Given the description of an element on the screen output the (x, y) to click on. 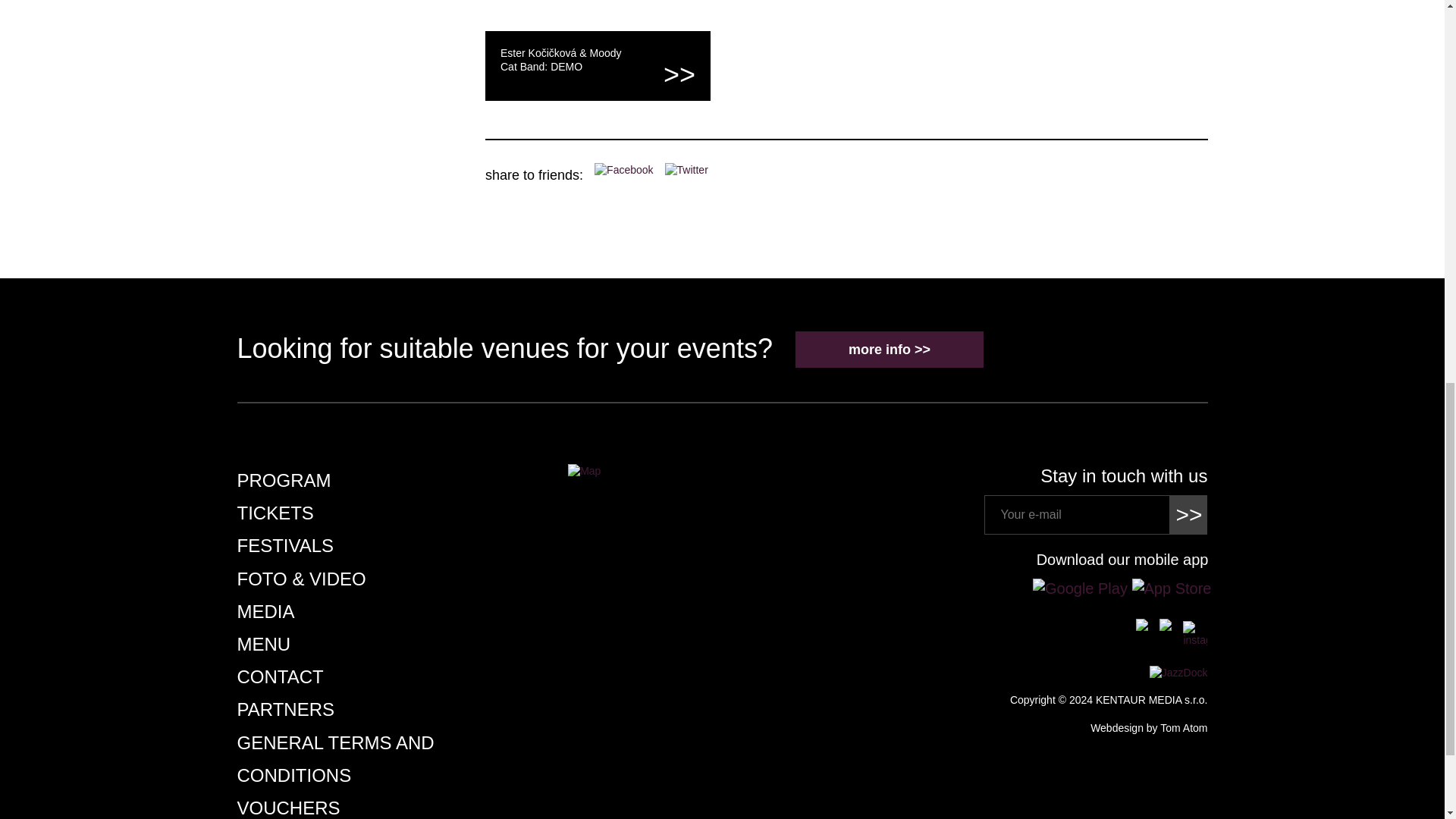
CONTACT (279, 676)
Google Play (1082, 586)
VOUCHERS (287, 807)
FESTIVALS (284, 545)
PARTNERS (284, 709)
App Store (1171, 586)
PROGRAM (282, 480)
TICKETS (274, 512)
MENU (262, 643)
Webdesign studio Prague (1148, 727)
